Given the description of an element on the screen output the (x, y) to click on. 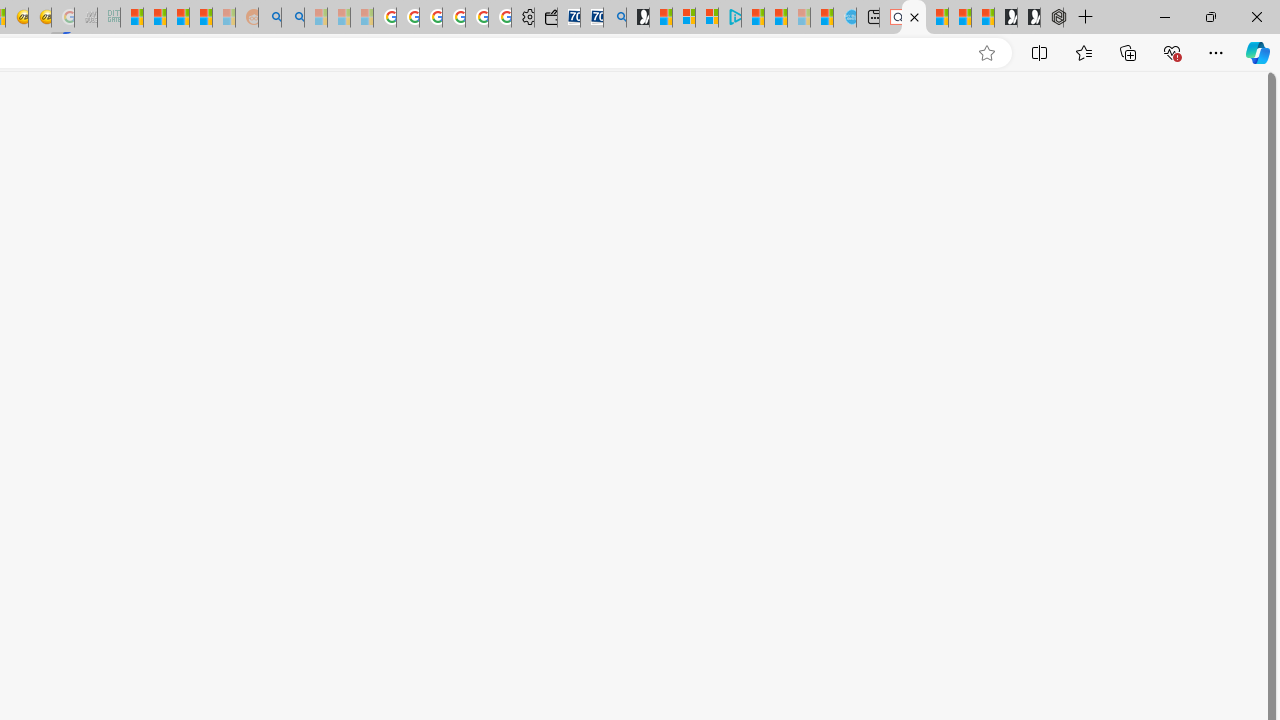
Student Loan Update: Forgiveness Program Ends This Month (200, 17)
Cheap Car Rentals - Save70.com (591, 17)
